Given the description of an element on the screen output the (x, y) to click on. 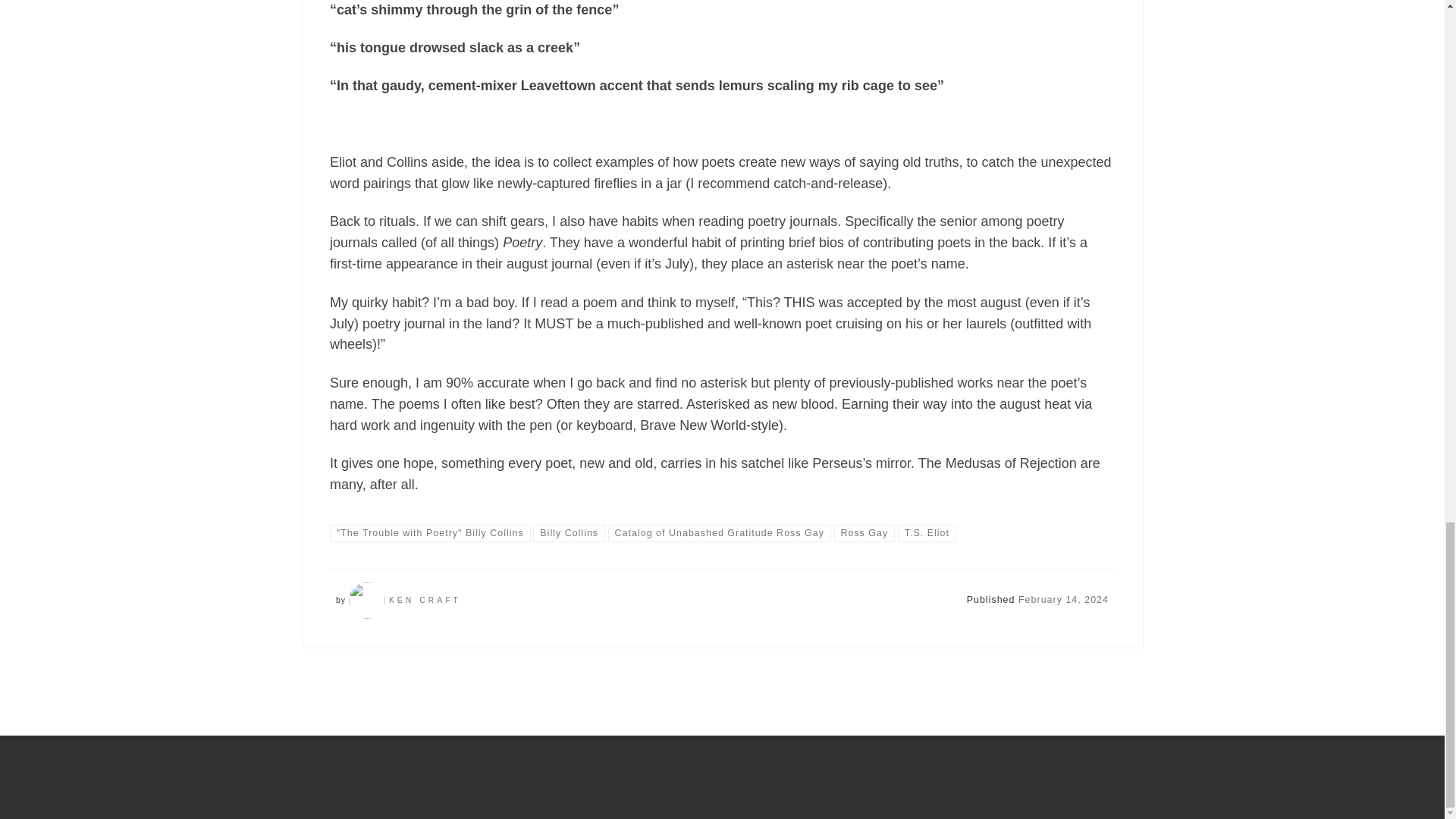
View all posts by Ken Craft (424, 600)
Billy Collins (568, 532)
View all posts in "The Trouble with Poetry" Billy Collins (430, 532)
KEN CRAFT (424, 600)
View all posts in Catalog of Unabashed Gratitude Ross Gay (719, 532)
February 14, 2024 (1062, 599)
Ross Gay (864, 532)
View all posts in T.S. Eliot (927, 532)
"The Trouble with Poetry" Billy Collins (430, 532)
